Given the description of an element on the screen output the (x, y) to click on. 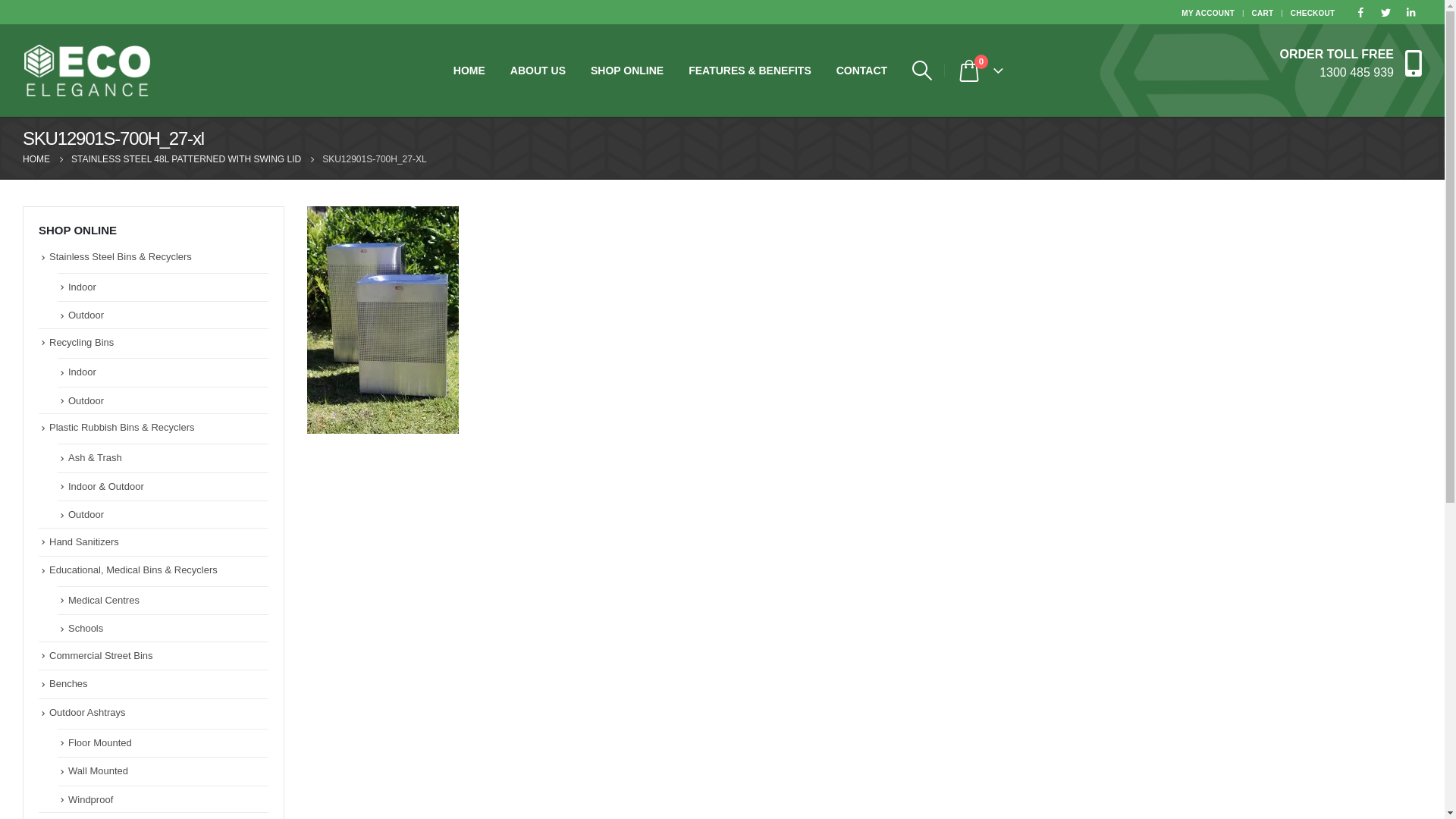
Outdoor Ashtrays Element type: text (87, 712)
CONTACT Element type: text (861, 70)
HOME Element type: text (36, 159)
FEATURES & BENEFITS Element type: text (749, 70)
Commercial Street Bins Element type: text (101, 655)
Wall Mounted Element type: text (98, 770)
Windproof Element type: text (90, 799)
LinkedIn Element type: hover (1410, 11)
Recycling Bins Element type: text (81, 342)
Outdoor Element type: text (85, 514)
SHOP ONLINE Element type: text (626, 70)
Educational, Medical Bins & Recyclers Element type: text (133, 569)
Ash & Trash Element type: text (95, 457)
Benches Element type: text (68, 683)
Plastic Rubbish Bins & Recyclers Element type: text (121, 427)
Floor Mounted Element type: text (99, 742)
Stainless Steel Bins & Recyclers Element type: text (120, 256)
Outdoor Element type: text (85, 314)
Twitter Element type: hover (1385, 11)
Schools Element type: text (85, 627)
STAINLESS STEEL 48L PATTERNED WITH SWING LID Element type: text (186, 159)
MY ACCOUNT Element type: text (1209, 11)
CART Element type: text (1262, 11)
Indoor Element type: text (82, 286)
Indoor Element type: text (82, 371)
Outdoor Element type: text (85, 400)
CHECKOUT Element type: text (1312, 11)
ABOUT US Element type: text (537, 70)
Medical Centres Element type: text (103, 599)
Hand Sanitizers Element type: text (84, 541)
HOME Element type: text (469, 70)
Indoor & Outdoor Element type: text (106, 486)
Facebook Element type: hover (1360, 11)
ORDER TOLL FREE
1300 485 939 Element type: text (1350, 62)
